Given the description of an element on the screen output the (x, y) to click on. 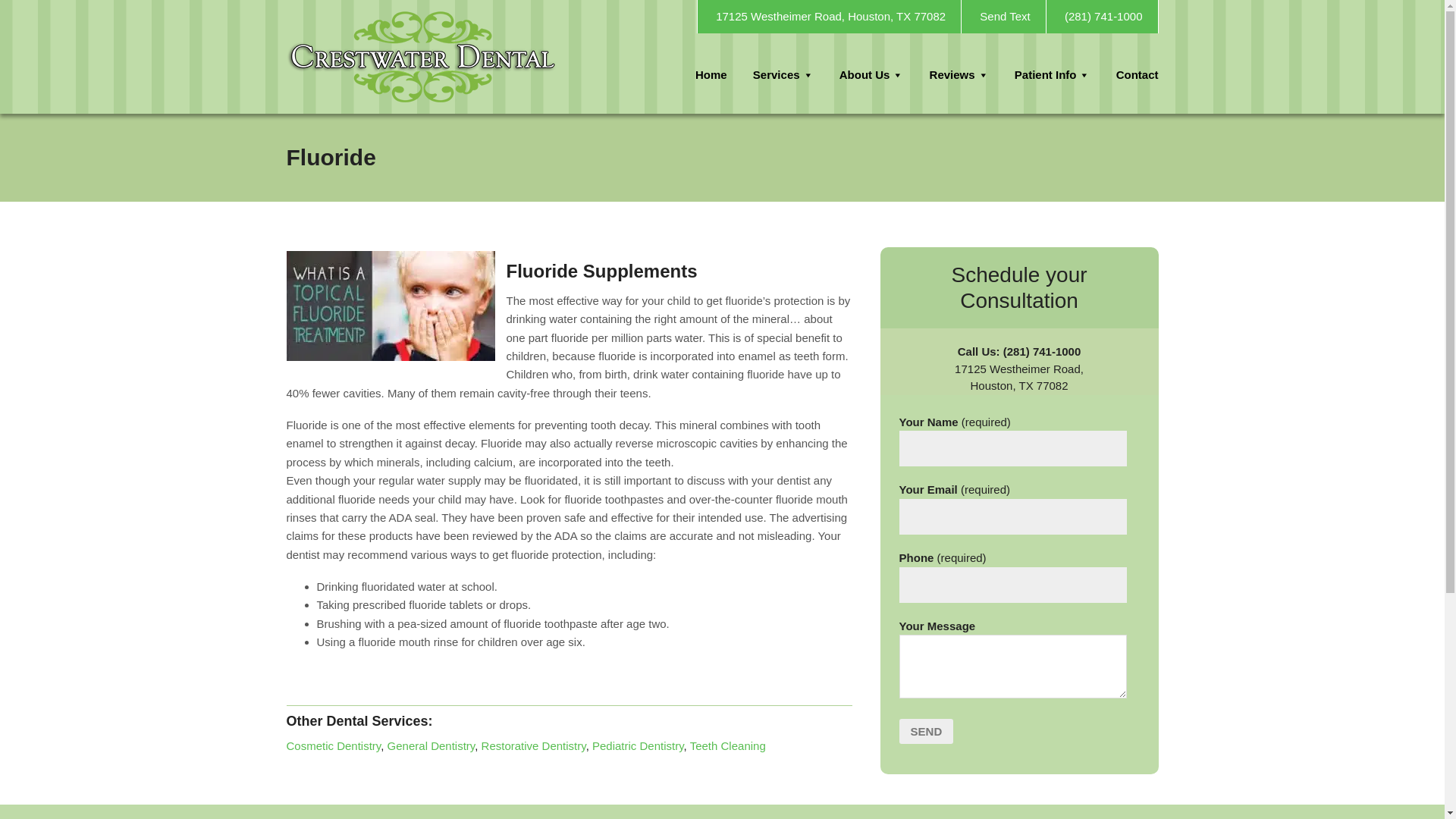
Services (783, 74)
 Send Text (1002, 16)
Phone (1101, 16)
Send (926, 731)
Location (828, 16)
Send SMS (1002, 16)
Home (711, 74)
 17125 Westheimer Road, Houston, TX 77082 (828, 16)
